Given the description of an element on the screen output the (x, y) to click on. 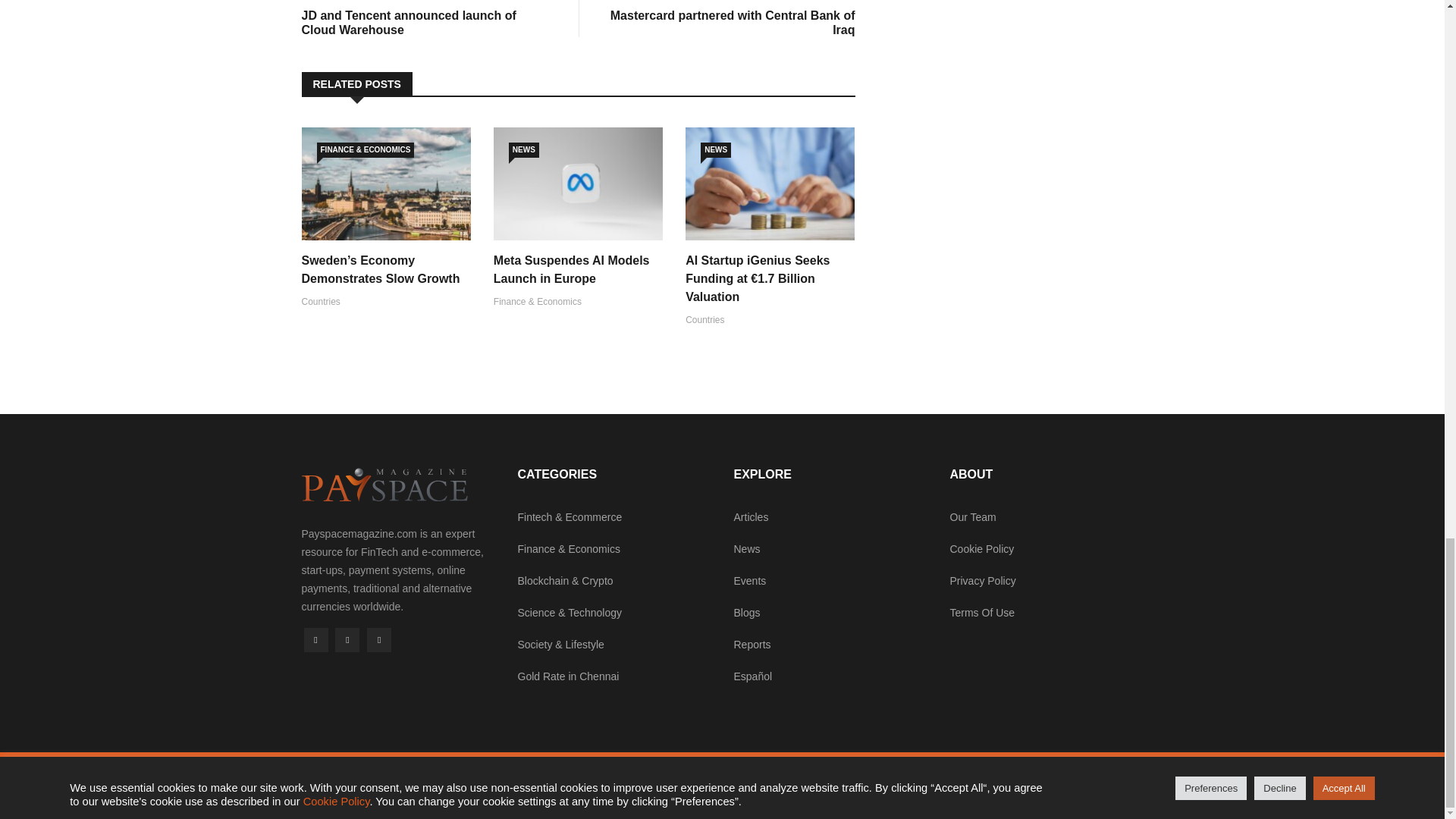
RSS (378, 639)
Twitter (346, 639)
Facebook (733, 18)
